Given the description of an element on the screen output the (x, y) to click on. 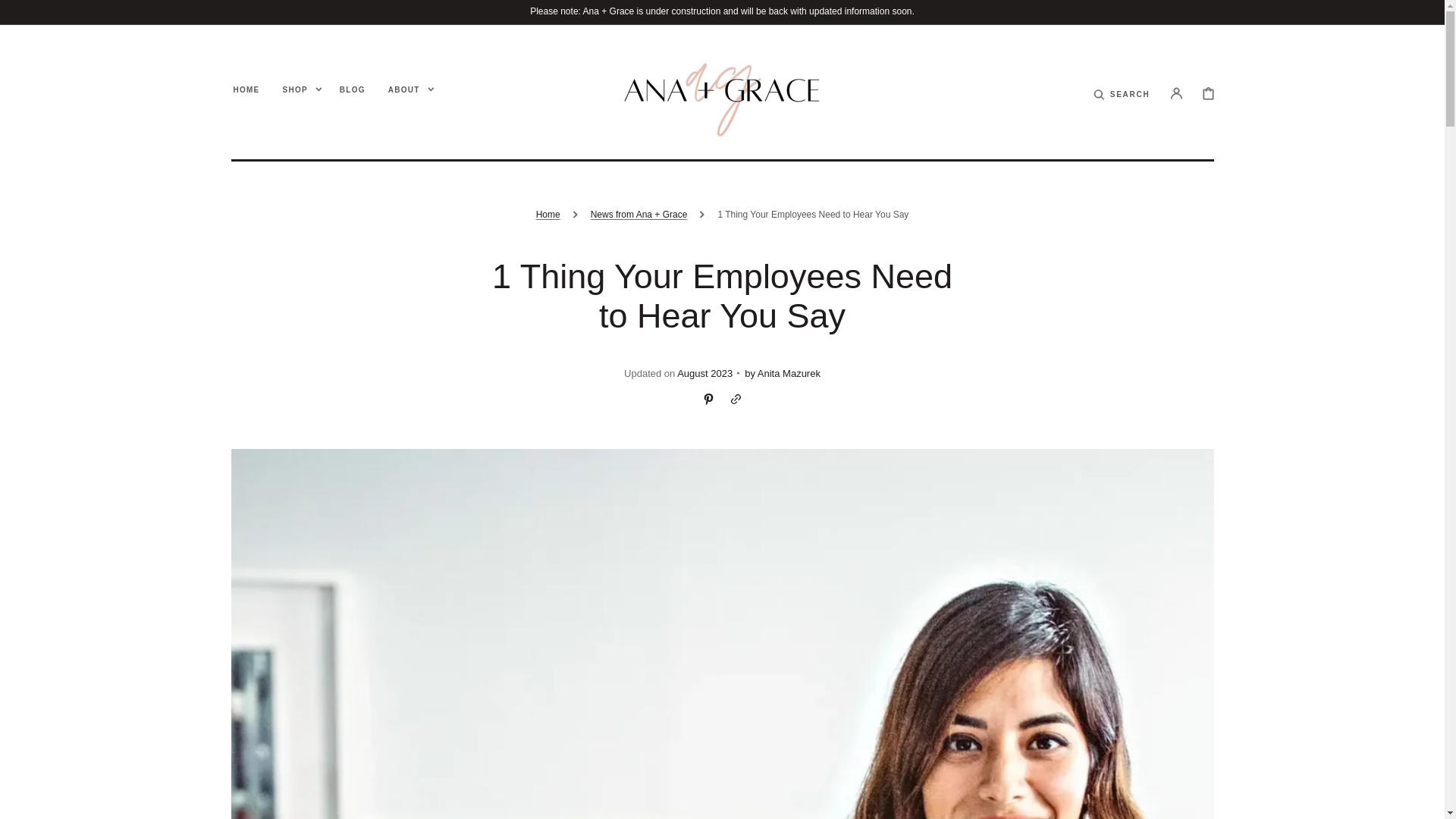
Shop (294, 90)
About (404, 90)
Blog (352, 90)
HOME (245, 89)
Home (246, 90)
SKIP TO CONTENT (45, 14)
Search (1129, 103)
